Given the description of an element on the screen output the (x, y) to click on. 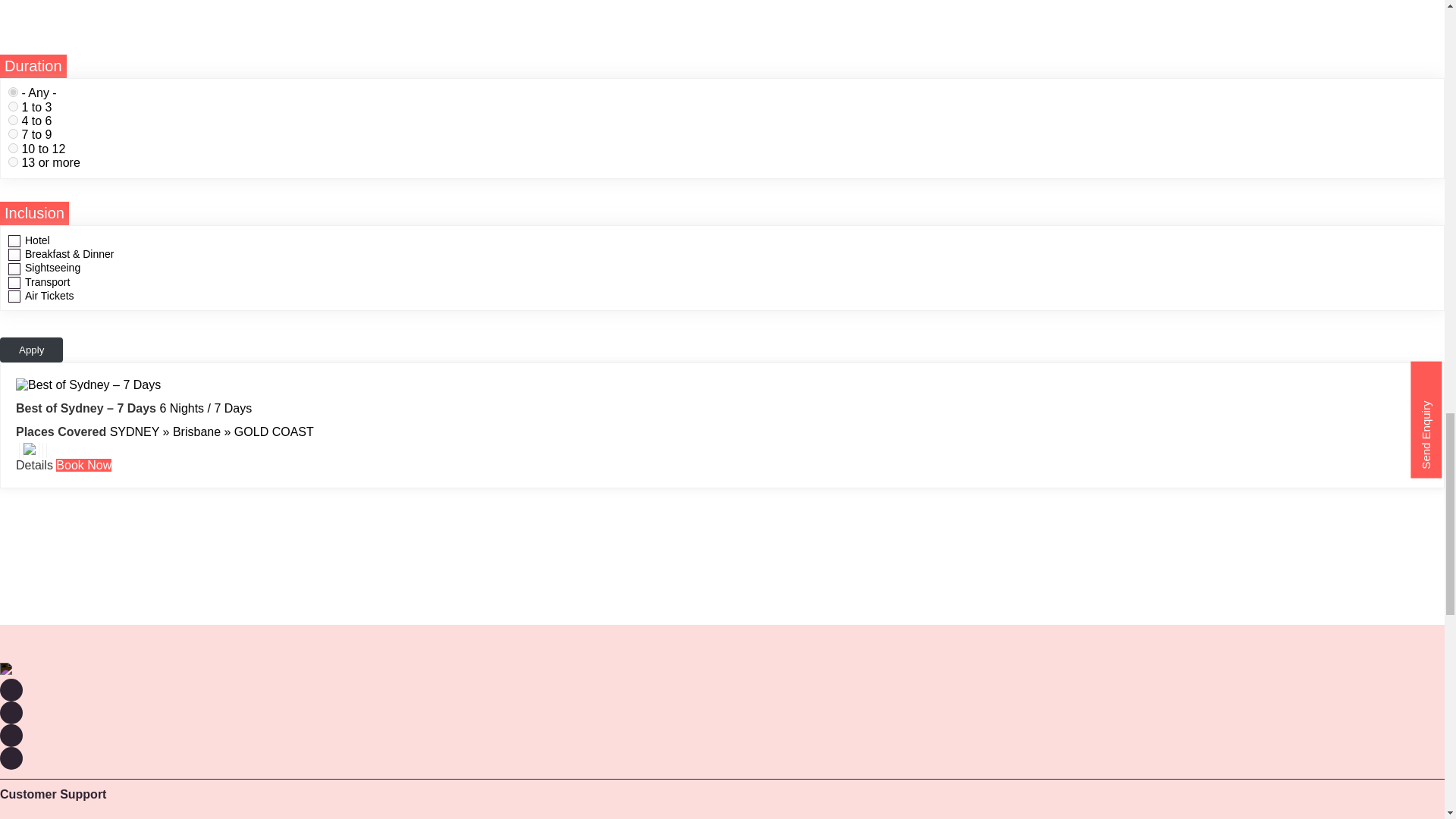
5 (12, 162)
1 (12, 106)
3 (12, 133)
Sightseeing (31, 450)
Apply (31, 349)
2 (12, 120)
4 (12, 148)
All (12, 91)
